Given the description of an element on the screen output the (x, y) to click on. 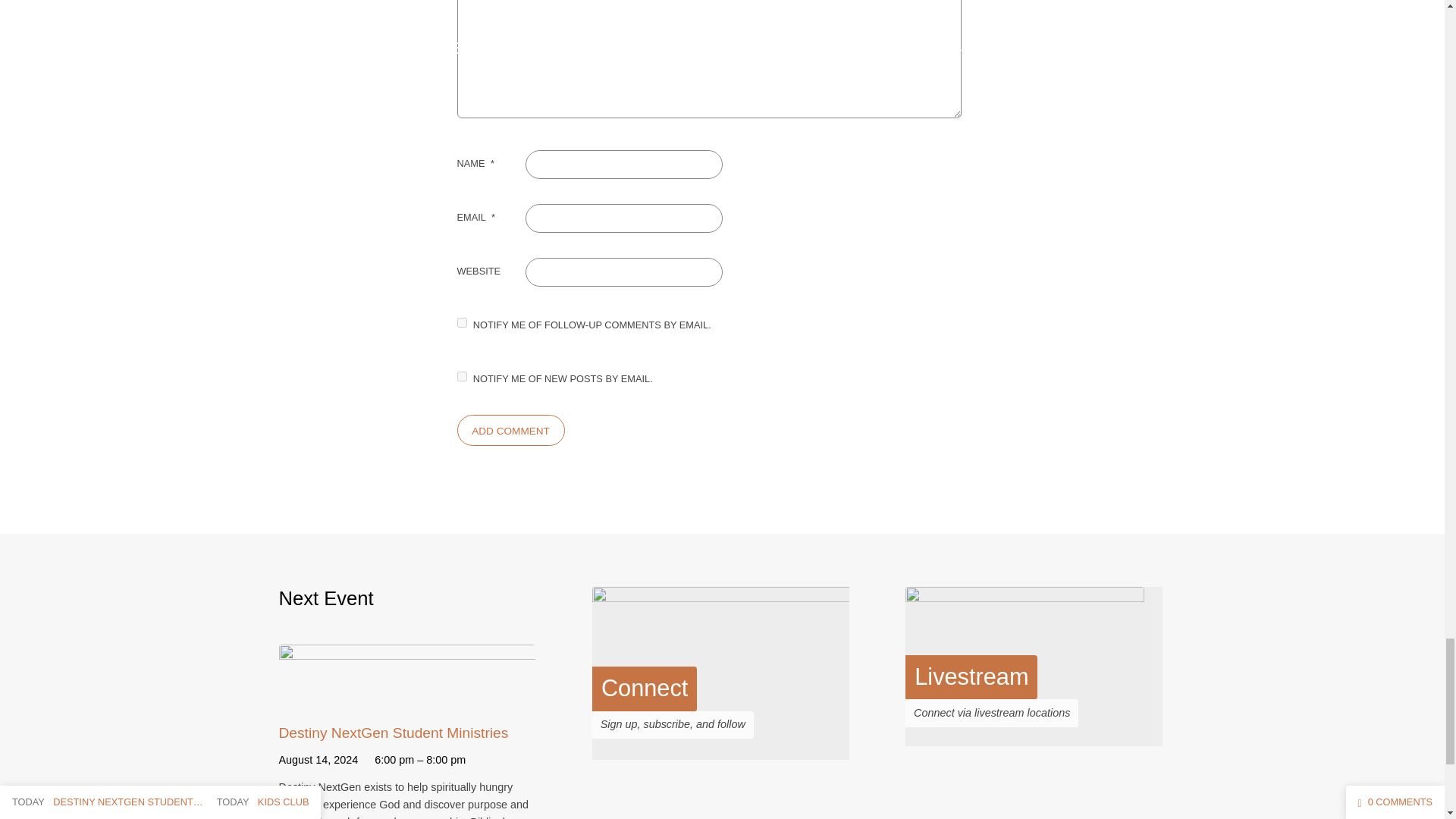
subscribe (461, 322)
subscribe (461, 376)
Add Comment (510, 429)
